Given the description of an element on the screen output the (x, y) to click on. 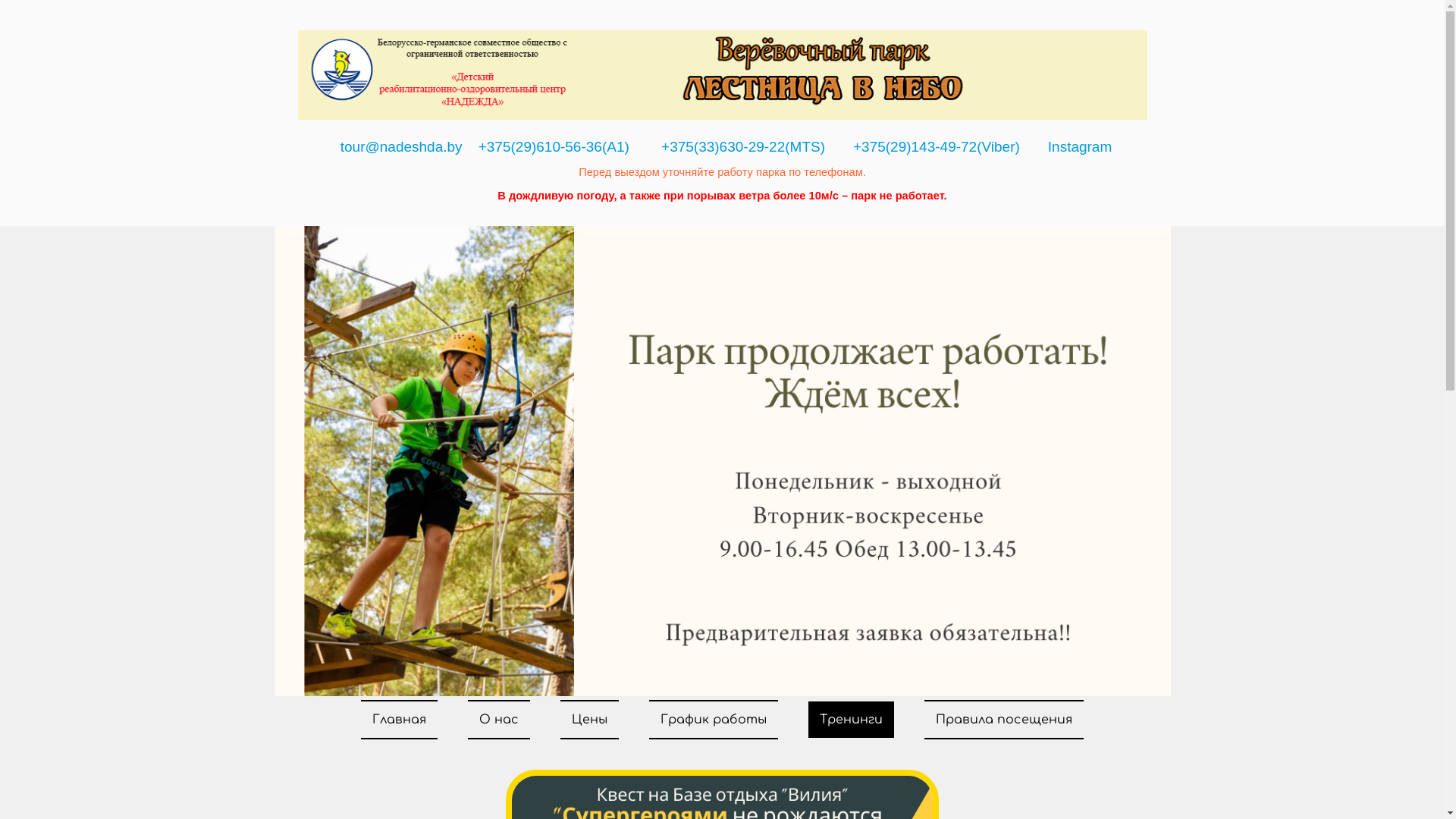
+375(29)610-56-36(A1) Element type: text (553, 146)
tour@nadeshda.by Element type: text (401, 146)
+375(29)143-49-72(Viber) Element type: text (936, 146)
Instagram Element type: text (1079, 146)
+375(33)630-29-22(MTS) Element type: text (743, 146)
